Given the description of an element on the screen output the (x, y) to click on. 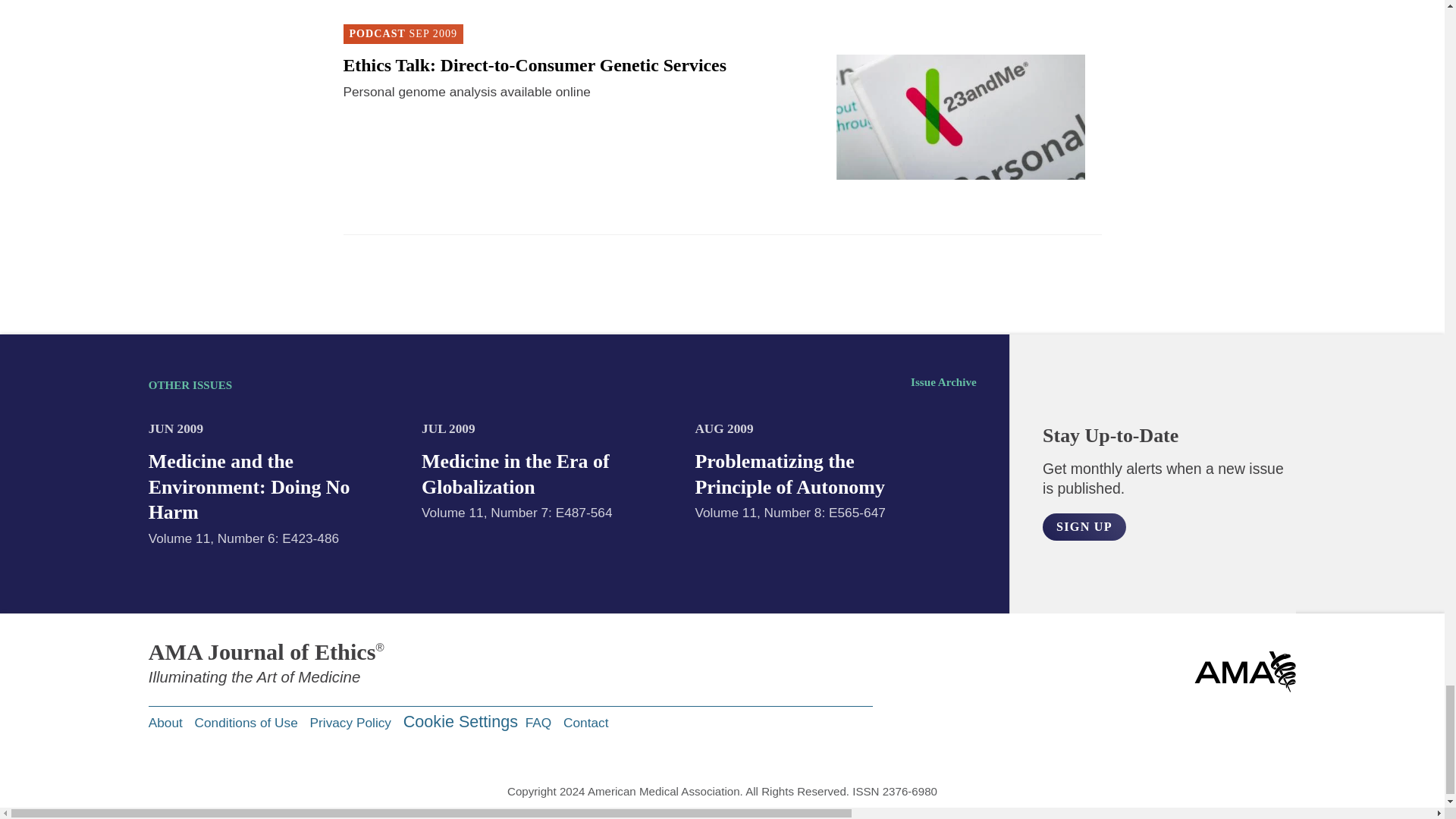
alt (1083, 525)
Issue Archive (943, 381)
